Given the description of an element on the screen output the (x, y) to click on. 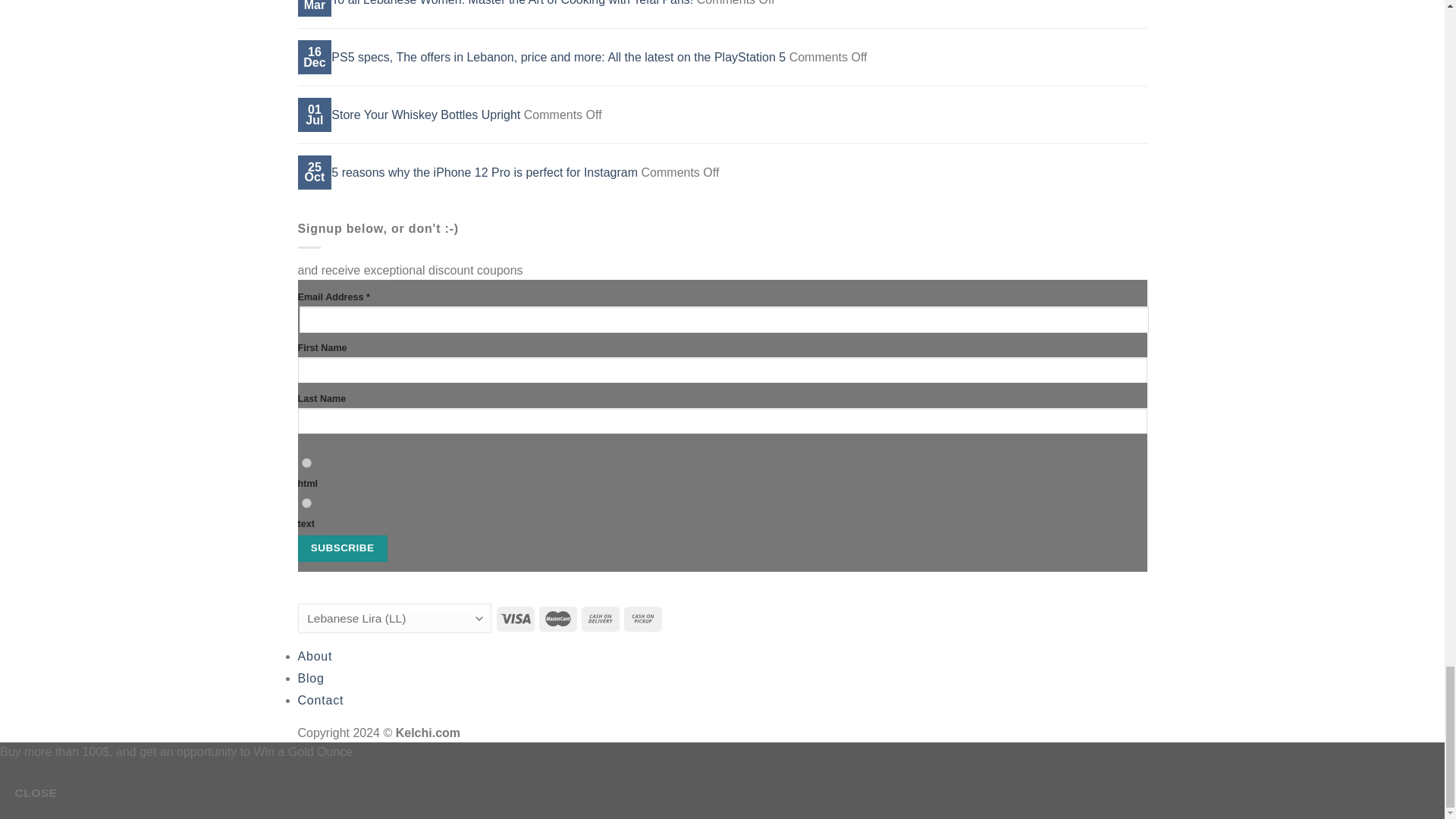
Subscribe (342, 548)
html (306, 462)
5 reasons why the iPhone 12 Pro is perfect for Instagram (484, 171)
Store Your Whiskey Bottles Upright (425, 114)
text (306, 502)
